Given the description of an element on the screen output the (x, y) to click on. 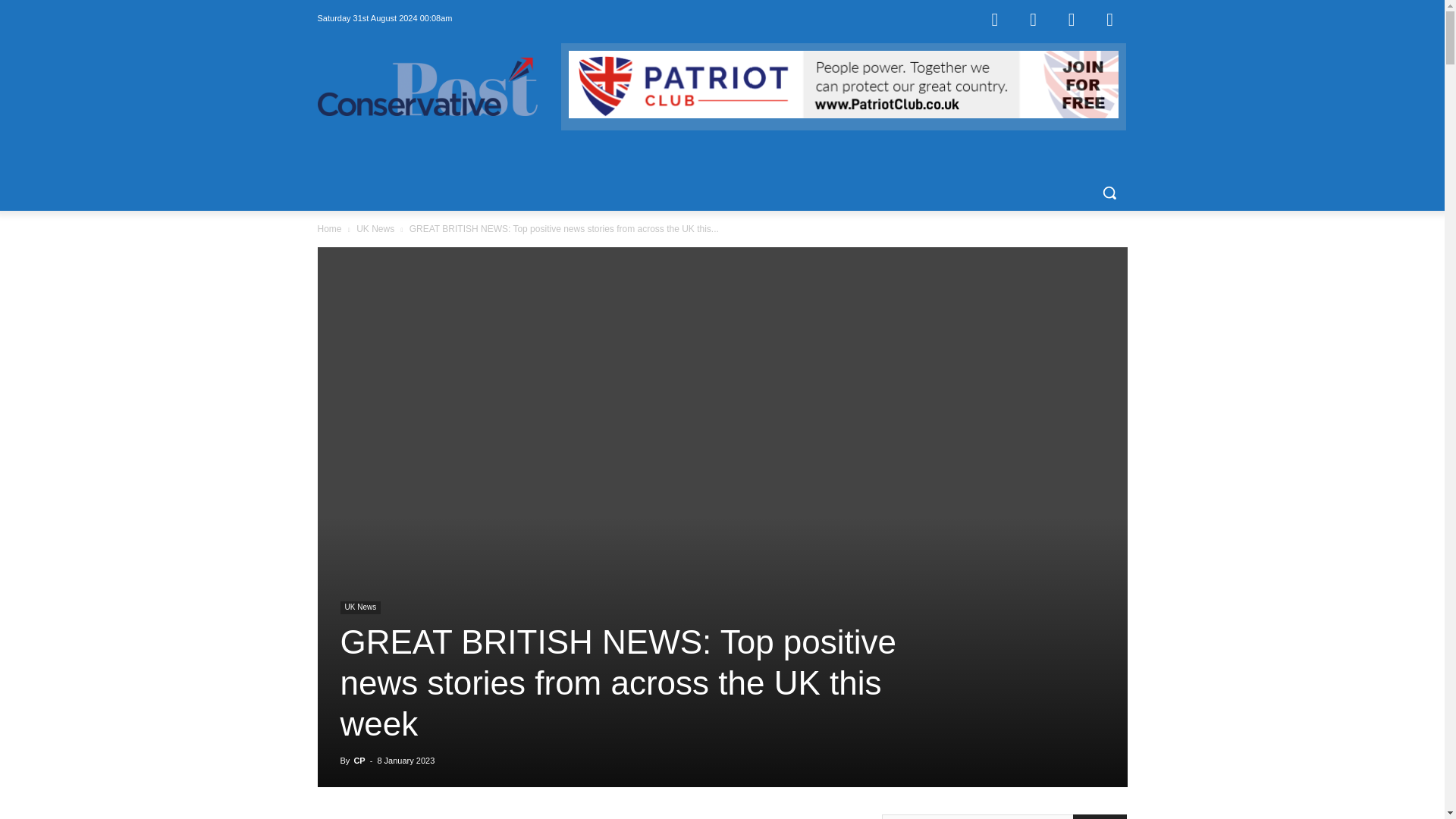
Facebook (993, 18)
Instagram (1033, 18)
Conservative Post (427, 86)
View all posts in UK News (375, 228)
CP (359, 759)
UK News (359, 607)
Youtube (1109, 18)
UK News (375, 228)
Home (328, 228)
Search (1099, 816)
